Given the description of an element on the screen output the (x, y) to click on. 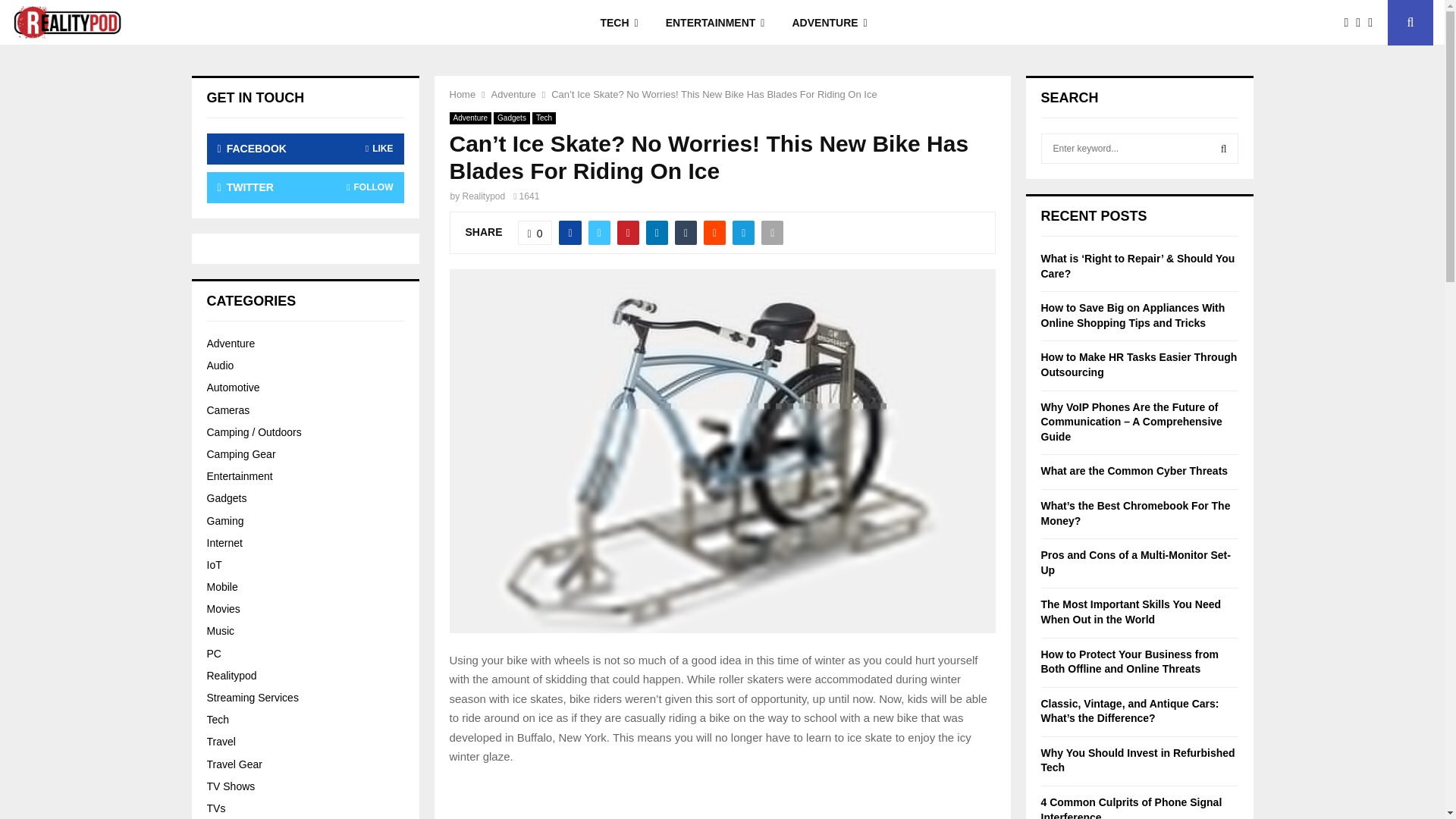
0 (535, 232)
Adventure (513, 93)
TECH (618, 22)
Gadgets (511, 118)
Tech (544, 118)
Adventure (470, 118)
Realitypod (484, 195)
ENTERTAINMENT (715, 22)
ADVENTURE (828, 22)
Like (535, 232)
